Given the description of an element on the screen output the (x, y) to click on. 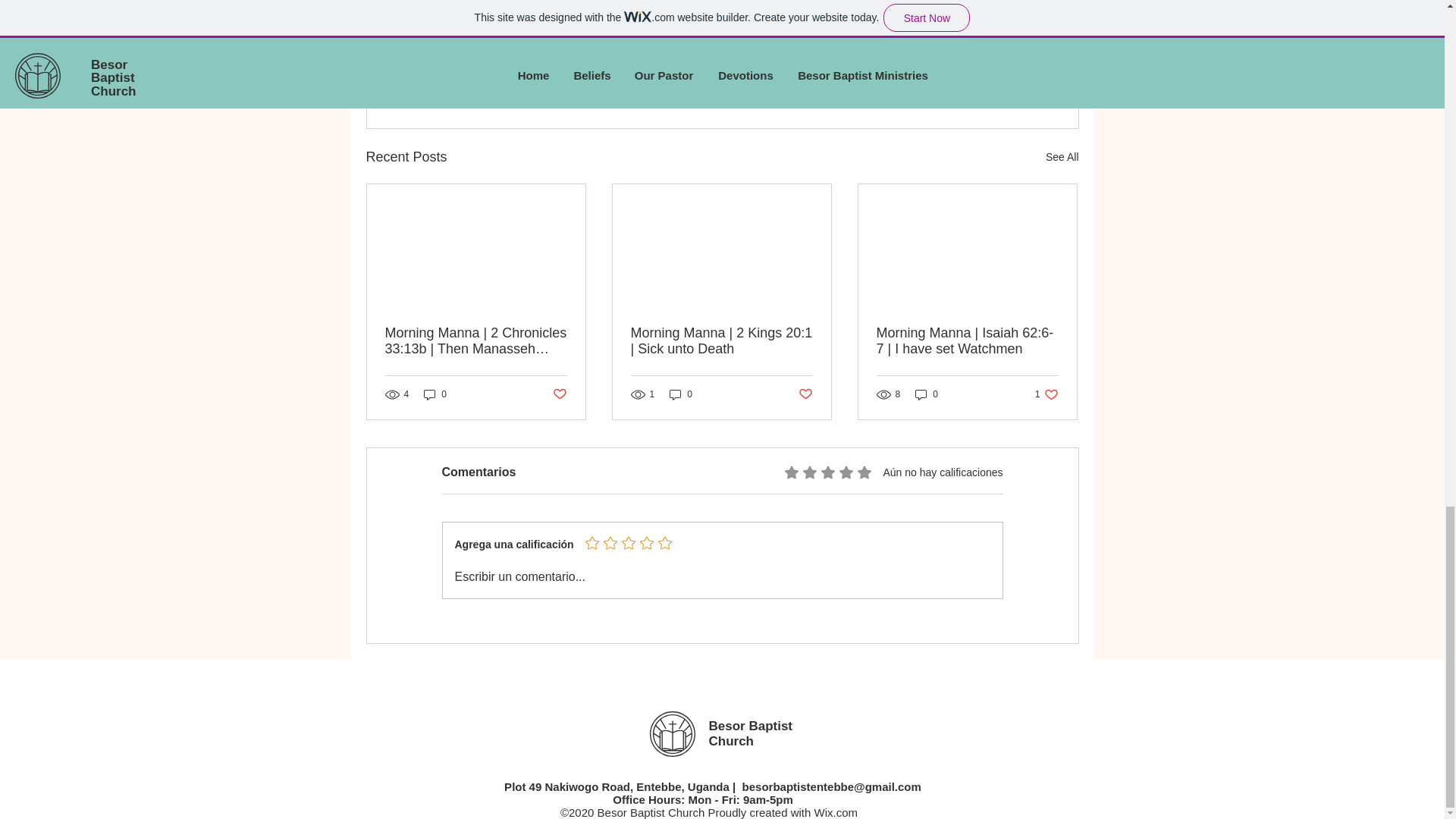
0 (681, 394)
0 (435, 394)
Post not marked as liked (804, 393)
See All (1061, 157)
Post not marked as liked (995, 74)
Post not marked as liked (558, 393)
0 (926, 394)
5 (1046, 394)
1 (965, 29)
